Given the description of an element on the screen output the (x, y) to click on. 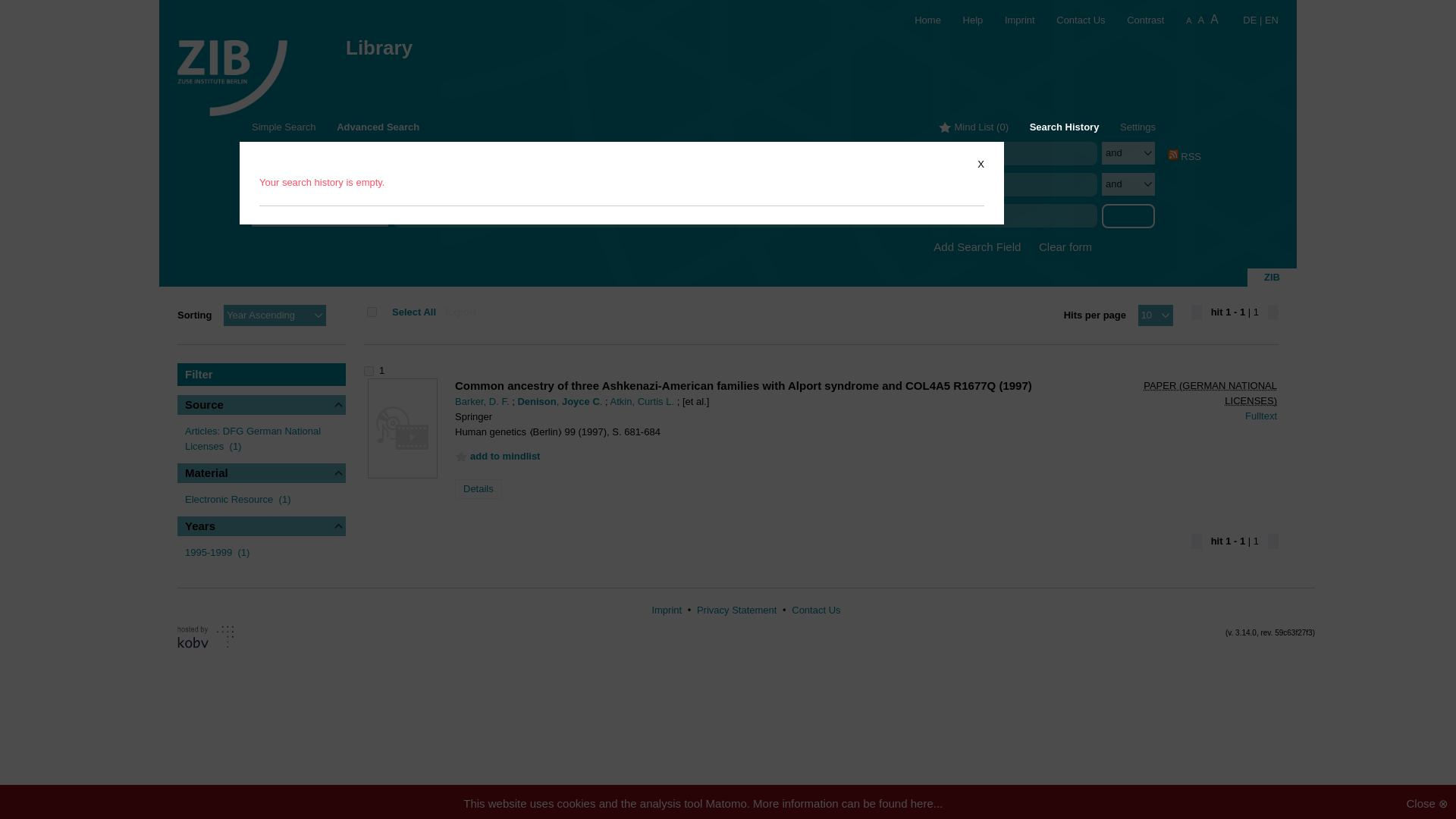
E-Mail an ZIB (1072, 19)
Imprint (1010, 19)
Imprint (1010, 19)
Contact Us (1072, 19)
ZIB Library (231, 68)
Add Search Field (977, 247)
Denison, Joyce C. (751, 153)
Search (1128, 215)
Clear form (1065, 247)
Help (963, 19)
Simple Search (283, 126)
Home (917, 19)
Help (963, 19)
Articles: DFG German National Licenses (252, 438)
on (371, 311)
